Given the description of an element on the screen output the (x, y) to click on. 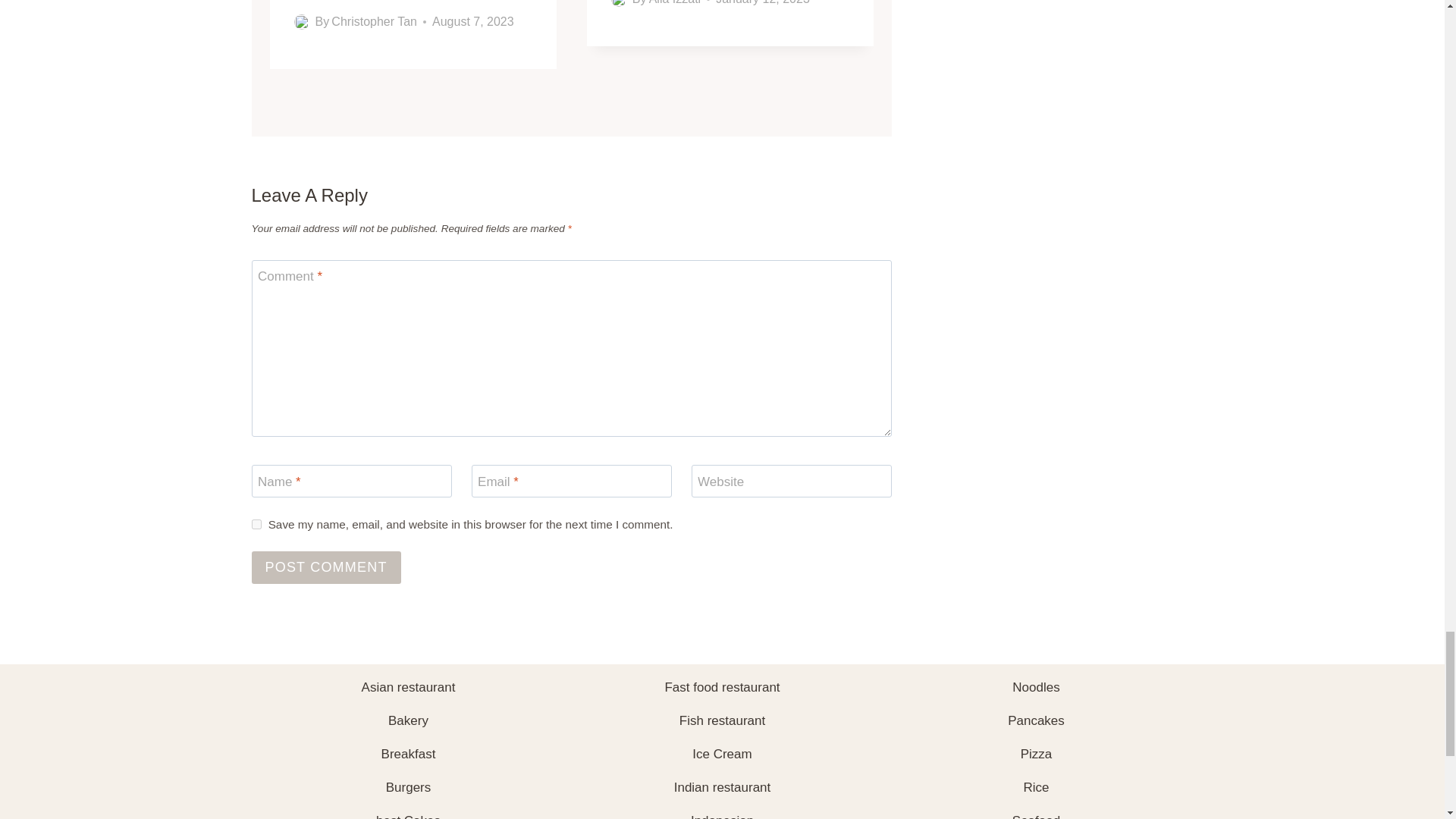
yes (256, 524)
Post Comment (326, 567)
